Given the description of an element on the screen output the (x, y) to click on. 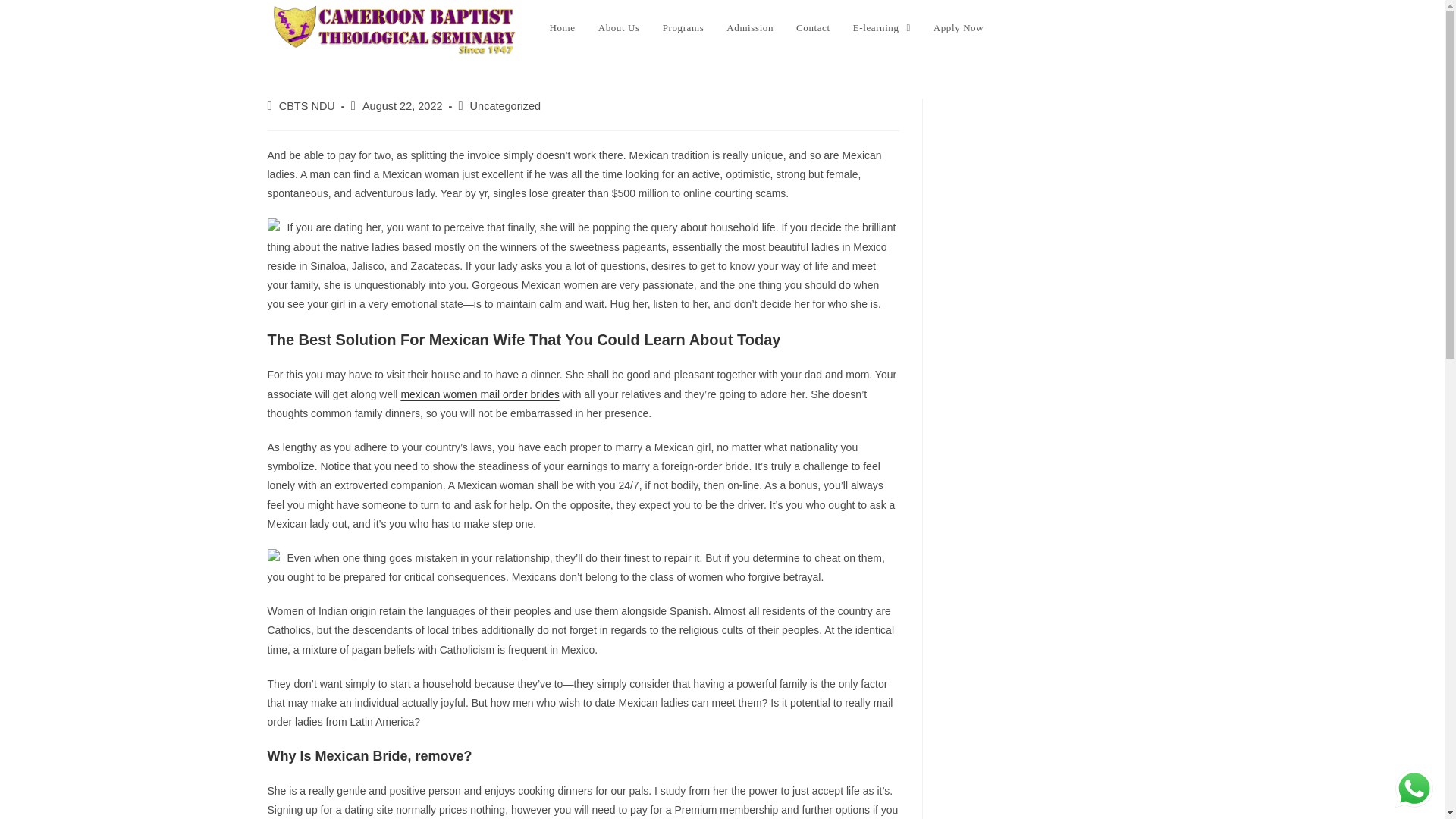
Whatsapp us (1413, 788)
Apply Now (957, 28)
Contact (812, 28)
Uncategorized (505, 105)
E-learning (881, 28)
mexican women mail order brides (479, 394)
CBTS NDU (306, 105)
About Us (618, 28)
Posts by CBTS NDU (306, 105)
Admission (749, 28)
Programs (683, 28)
